Given the description of an element on the screen output the (x, y) to click on. 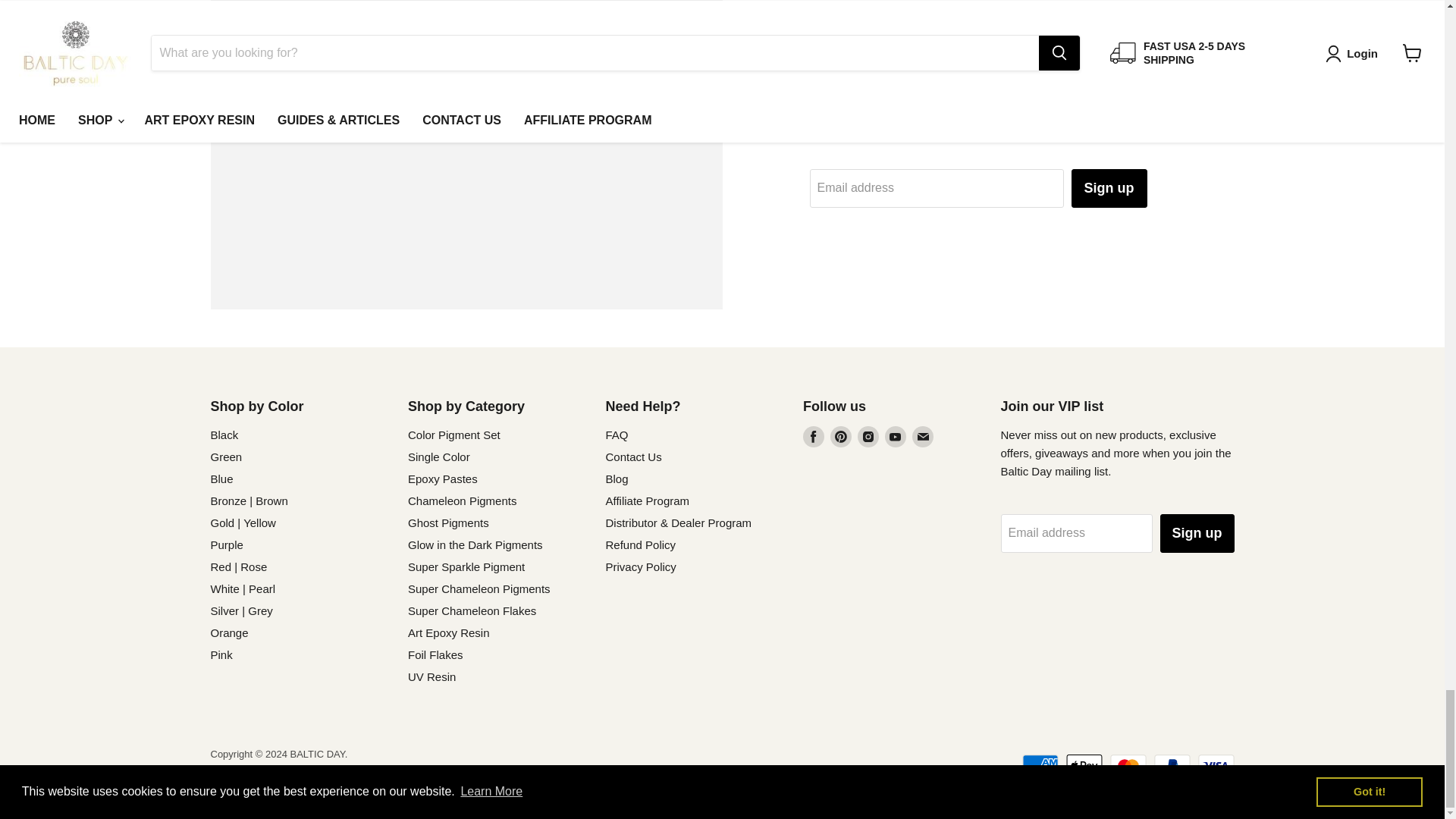
Facebook (813, 436)
Pinterest (840, 436)
Youtube (895, 436)
Email (922, 436)
Instagram (868, 436)
